Given the description of an element on the screen output the (x, y) to click on. 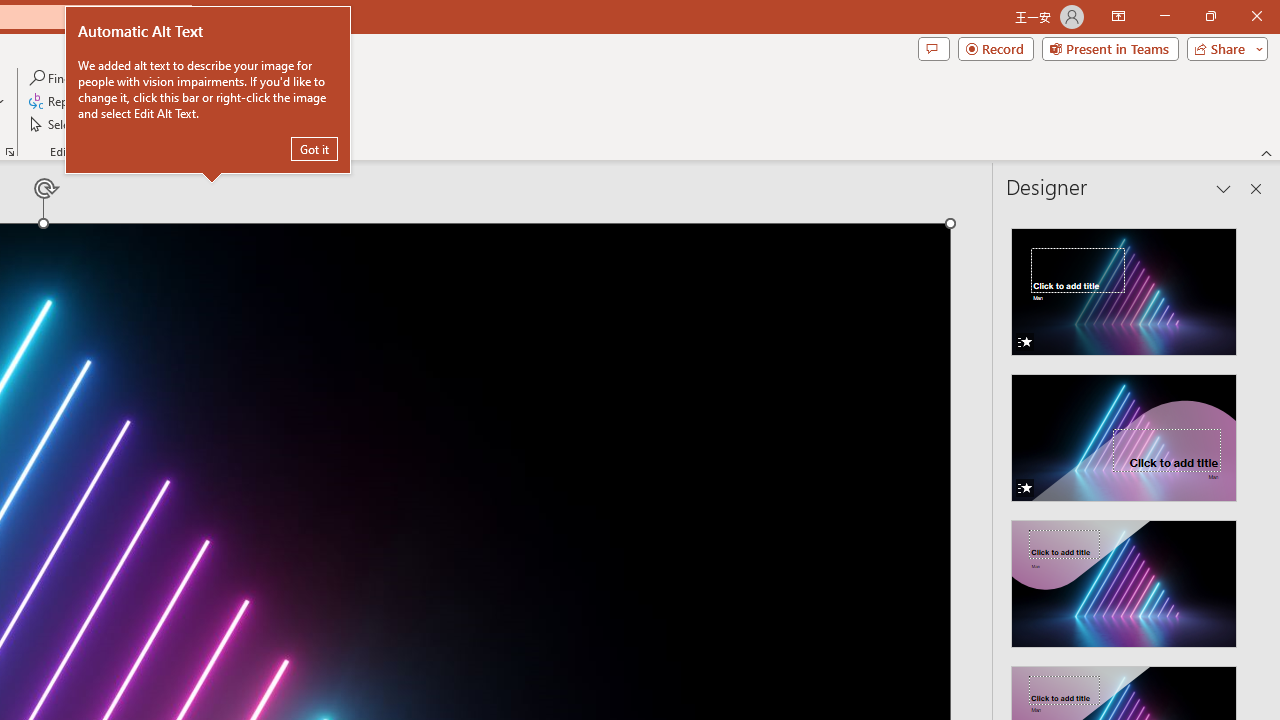
Design Idea with Animation (1124, 431)
